Given the description of an element on the screen output the (x, y) to click on. 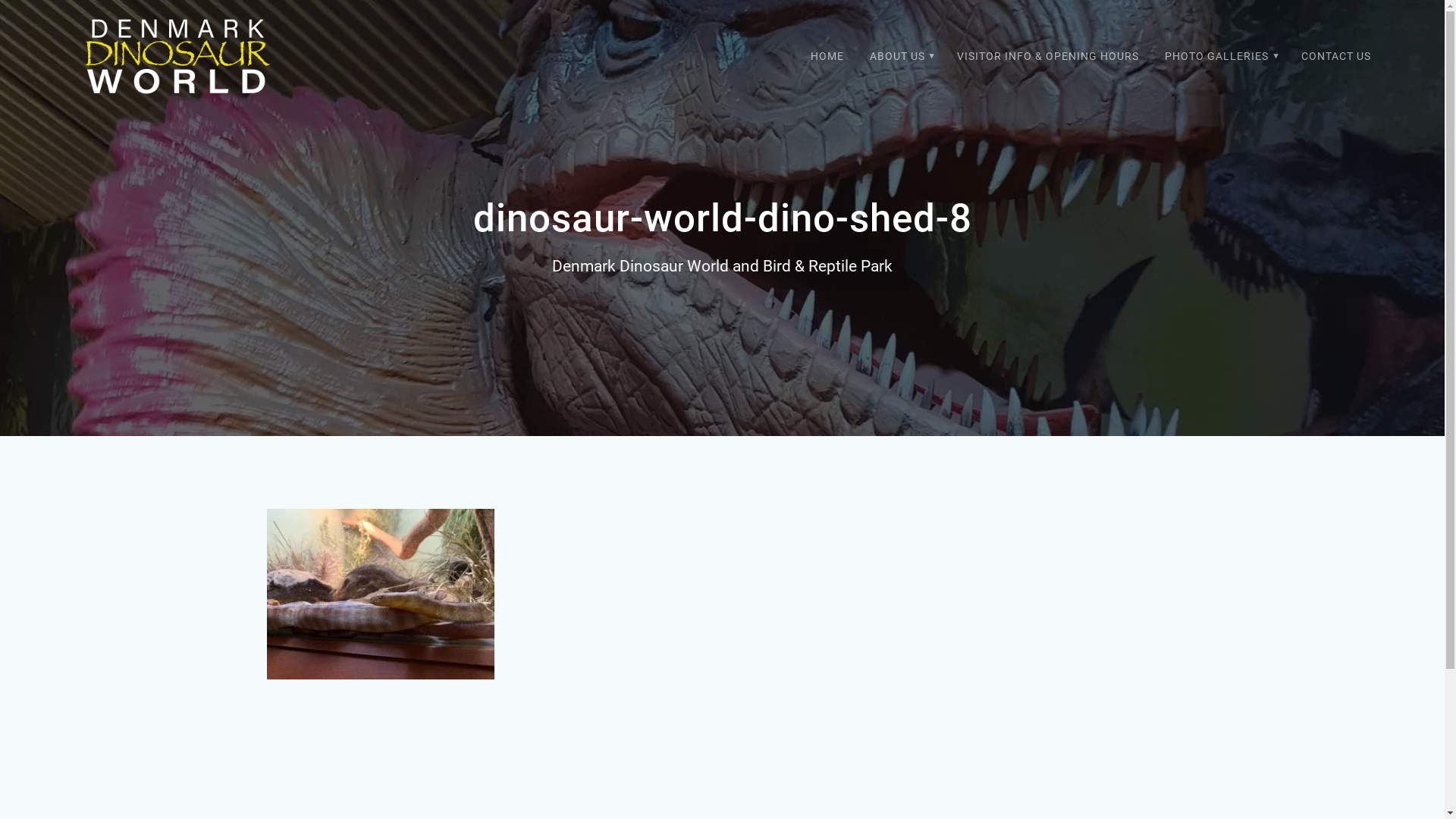
CONTACT US Element type: text (1335, 56)
VISITOR INFO & OPENING HOURS Element type: text (1047, 56)
HOME Element type: text (826, 56)
ABOUT US Element type: text (900, 56)
PHOTO GALLERIES Element type: text (1219, 56)
